Given the description of an element on the screen output the (x, y) to click on. 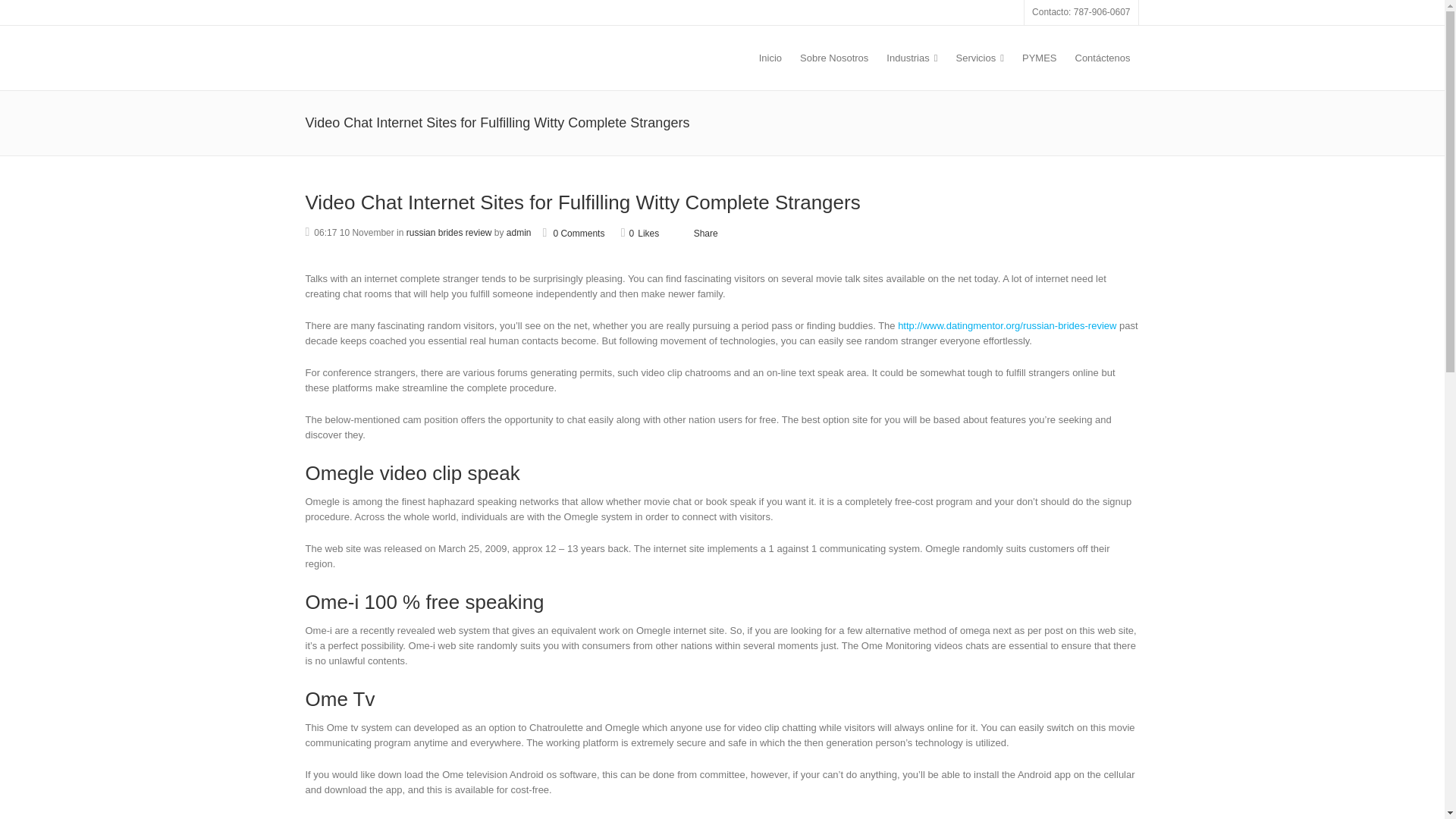
Like this (640, 232)
Sobre Nosotros (833, 57)
Industrias (911, 57)
admin (518, 232)
russian brides review (449, 232)
Servicios (979, 57)
0 Comments (574, 233)
0 Likes (640, 232)
